Given the description of an element on the screen output the (x, y) to click on. 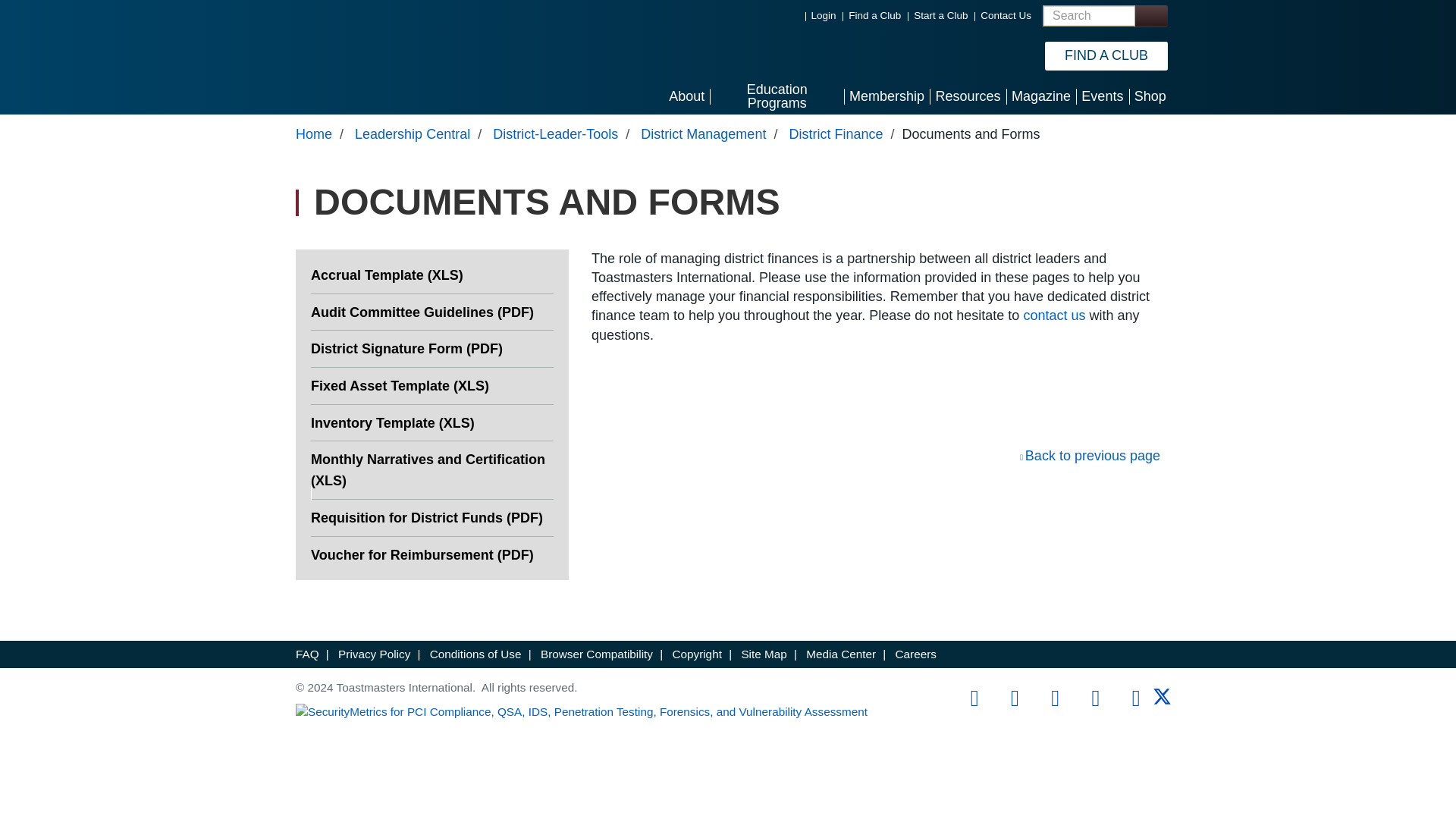
Search (1150, 15)
Find a Club (874, 15)
Start a Club (941, 15)
Conditions of Use (475, 653)
Browser Compatibility (596, 653)
Back to previous page (1090, 455)
FAQ (306, 653)
Privacy Policy (373, 653)
Education Programs (776, 95)
District Finance (835, 133)
